Given the description of an element on the screen output the (x, y) to click on. 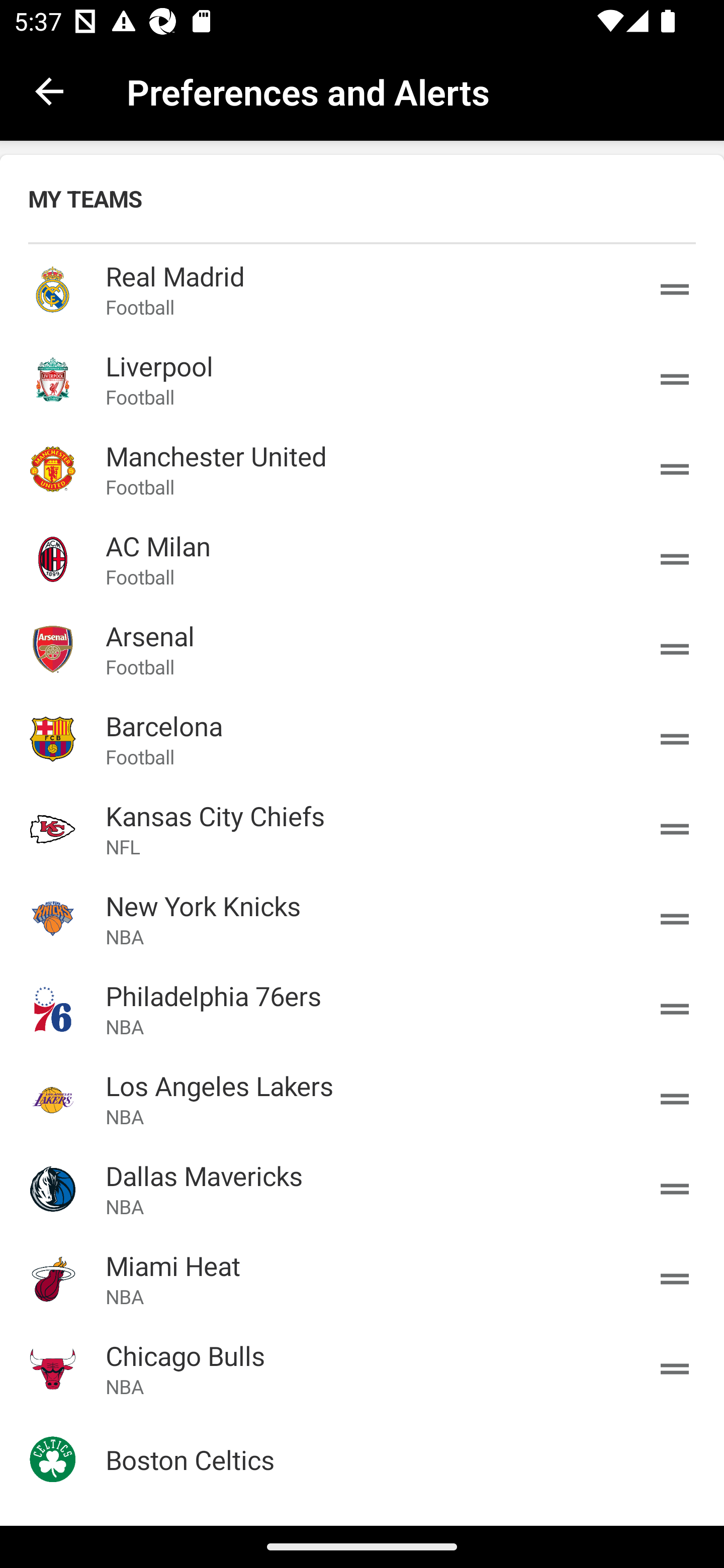
back.button (49, 90)
Liverpool Liverpool Liverpool Football Football (362, 378)
AC Milan AC Milan AC Milan Football Football (362, 558)
Arsenal Arsenal Arsenal Football Football (362, 648)
Barcelona Barcelona Barcelona Football Football (362, 739)
Miami Heat Miami Heat Miami Heat NBA NBA (362, 1278)
Chicago Bulls Chicago Bulls Chicago Bulls NBA NBA (362, 1368)
Boston Celtics Boston Celtics Boston Celtics (362, 1459)
